Given the description of an element on the screen output the (x, y) to click on. 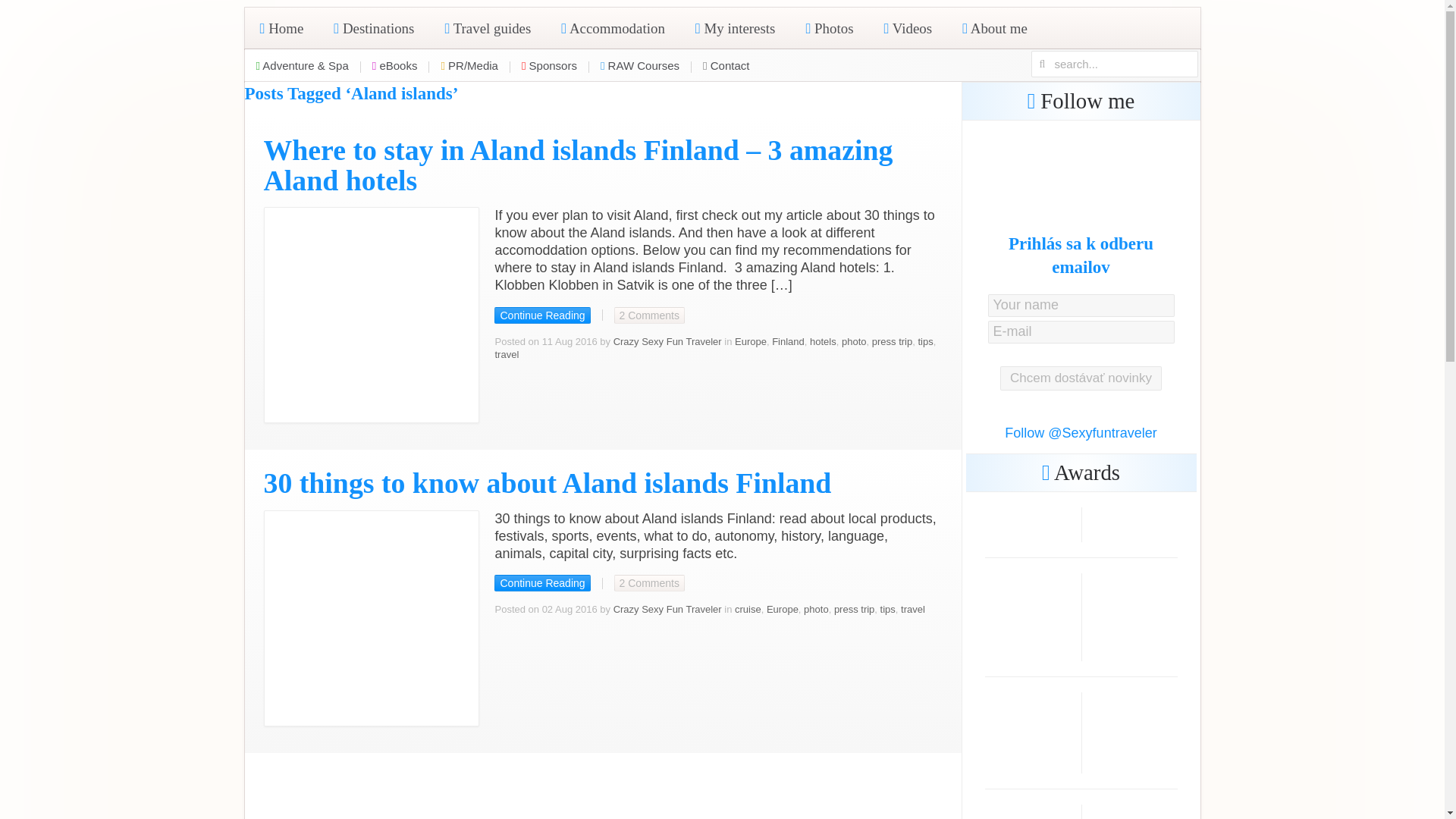
Videos (907, 28)
30 things to know about Aland islands Finland (547, 482)
30 things to know about Aland islands Finland (371, 616)
About me (994, 28)
My interests (734, 28)
Home (281, 28)
Crazy Sexy Fun Traveler (667, 341)
Photos (828, 28)
RAW Courses (639, 65)
30 things to know about Aland islands Finland (542, 582)
